Given the description of an element on the screen output the (x, y) to click on. 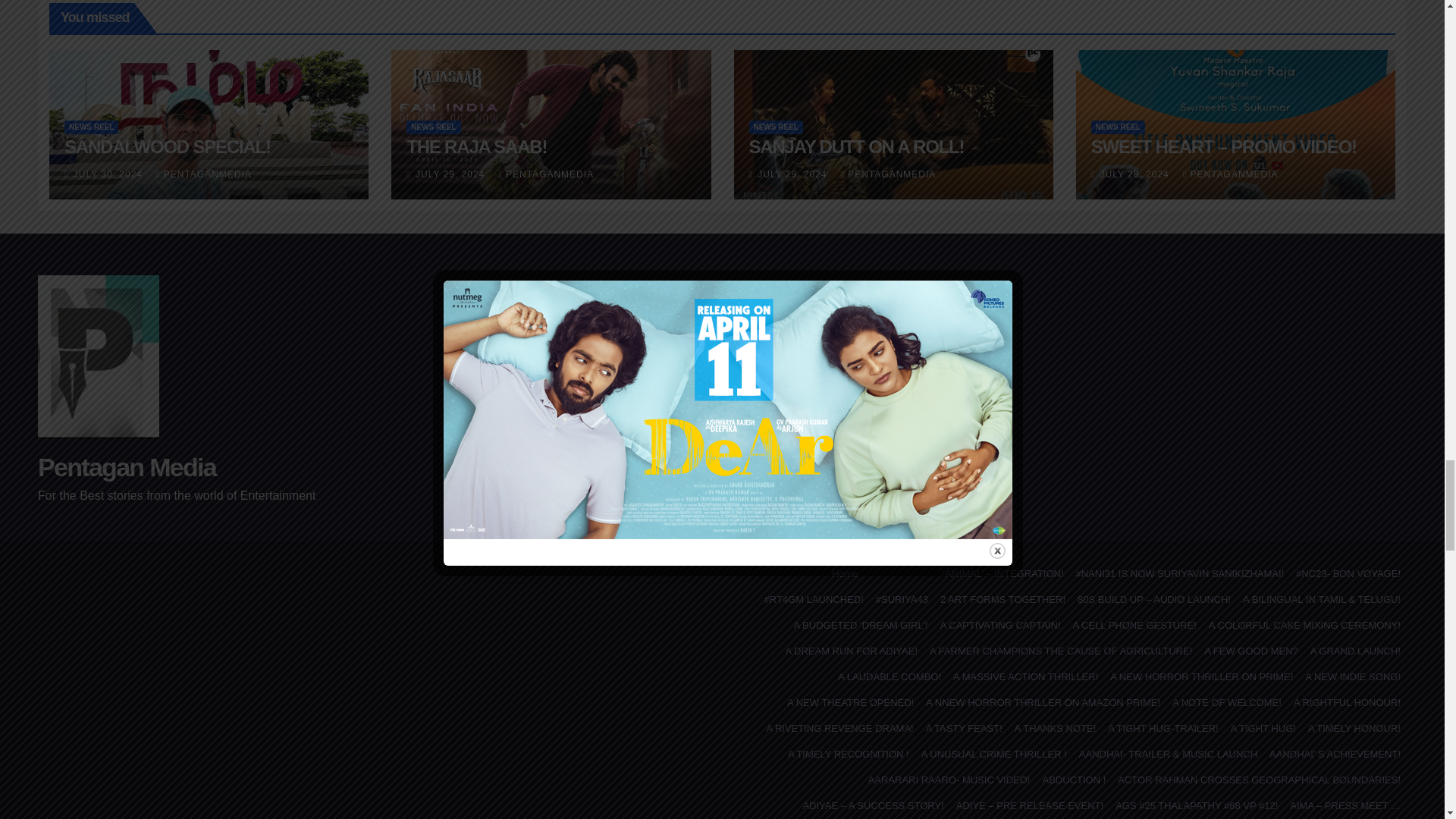
Permalink to: THE RAJA SAAB! (476, 146)
Permalink to: SANJAY DUTT ON A ROLL! (856, 146)
Home (844, 574)
Permalink to: SANDALWOOD SPECIAL! (167, 146)
